Given the description of an element on the screen output the (x, y) to click on. 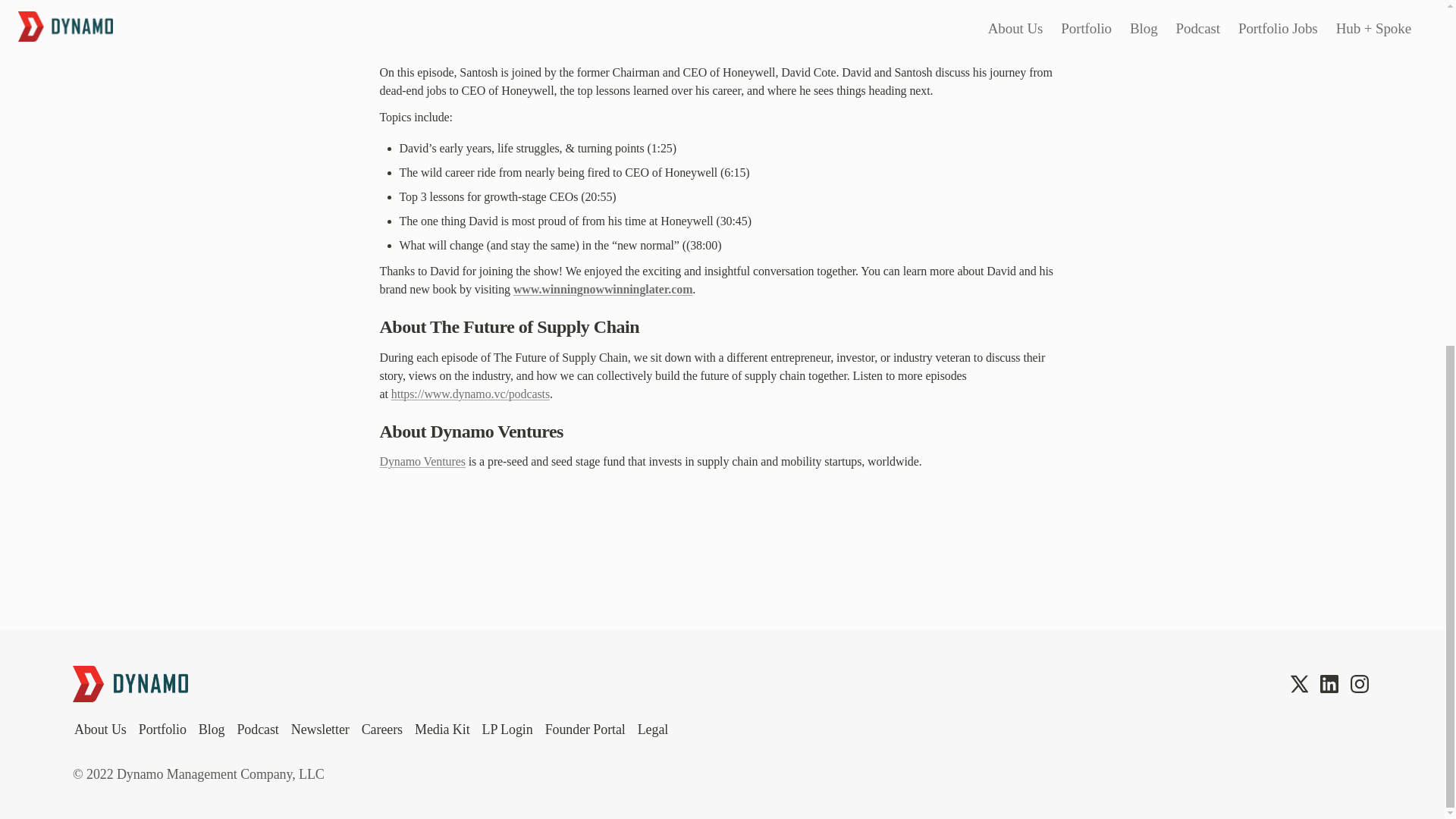
Newsletter (319, 729)
Portfolio (161, 729)
Dynamo Ventures (421, 461)
Instagram (1359, 683)
Podcast (256, 729)
www.winningnowwinninglater.com (603, 288)
X (1298, 683)
Legal (652, 729)
LP Login (507, 729)
